Given the description of an element on the screen output the (x, y) to click on. 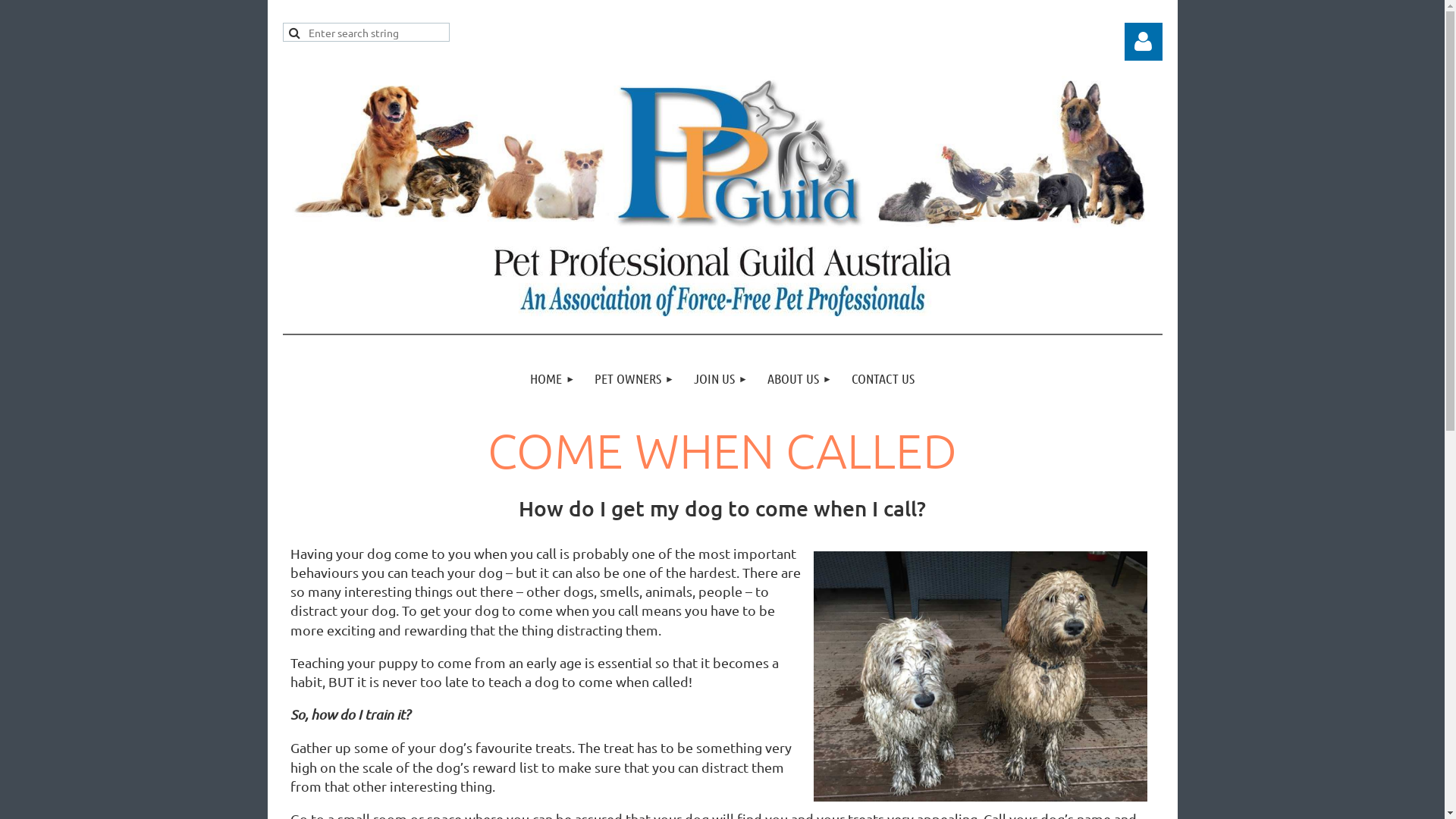
Log in Element type: text (1142, 41)
ABOUT US Element type: text (799, 378)
PET OWNERS Element type: text (634, 378)
HOME Element type: text (552, 378)
CONTACT US Element type: text (882, 378)
JOIN US Element type: text (720, 378)
